Given the description of an element on the screen output the (x, y) to click on. 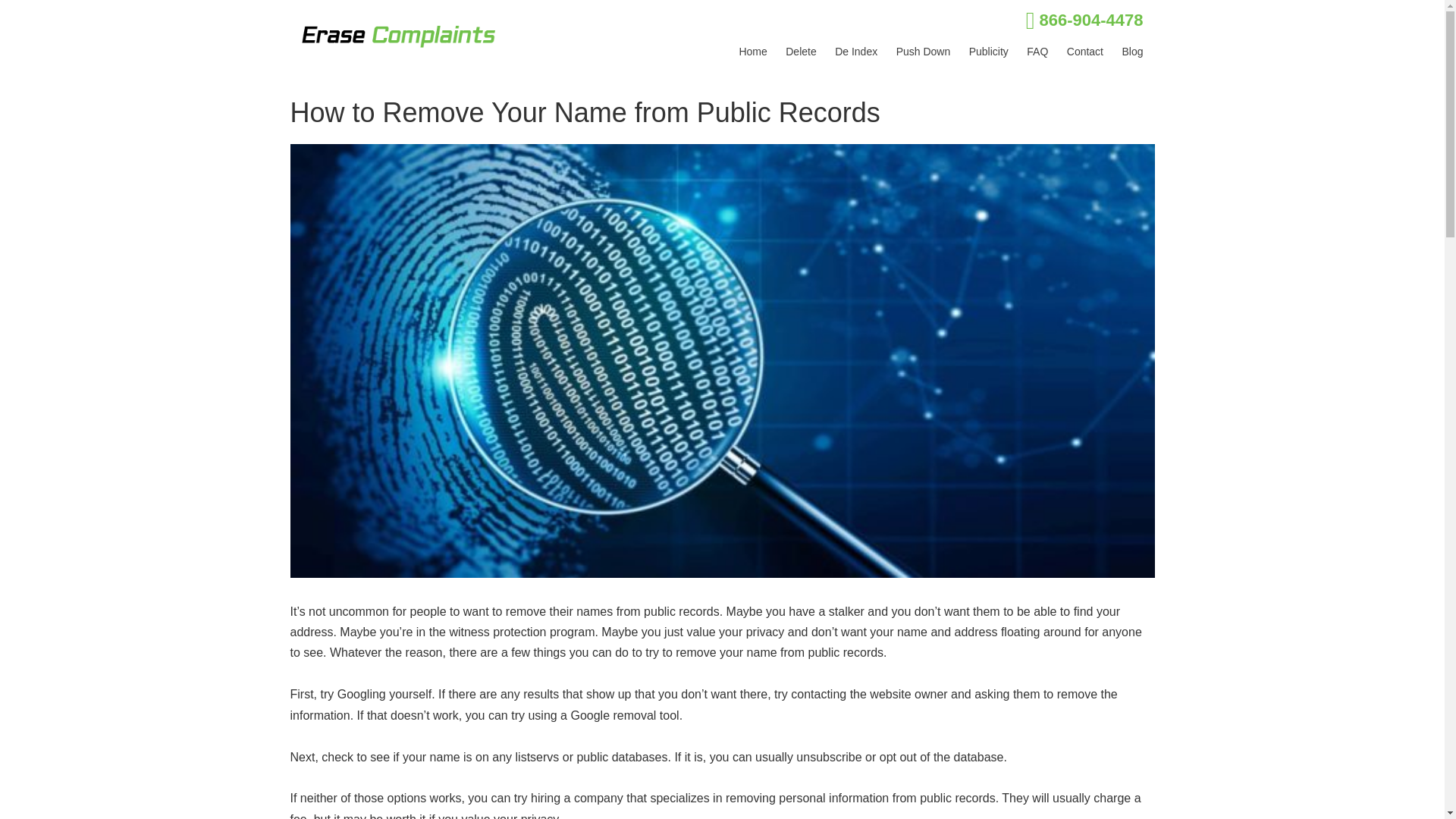
De Index (855, 52)
Contact (1085, 52)
Ripoff Report (910, 88)
Push Down (923, 52)
Publicity (989, 52)
866-904-4478 (1090, 19)
ComplaintsBoard.com (861, 88)
